Given the description of an element on the screen output the (x, y) to click on. 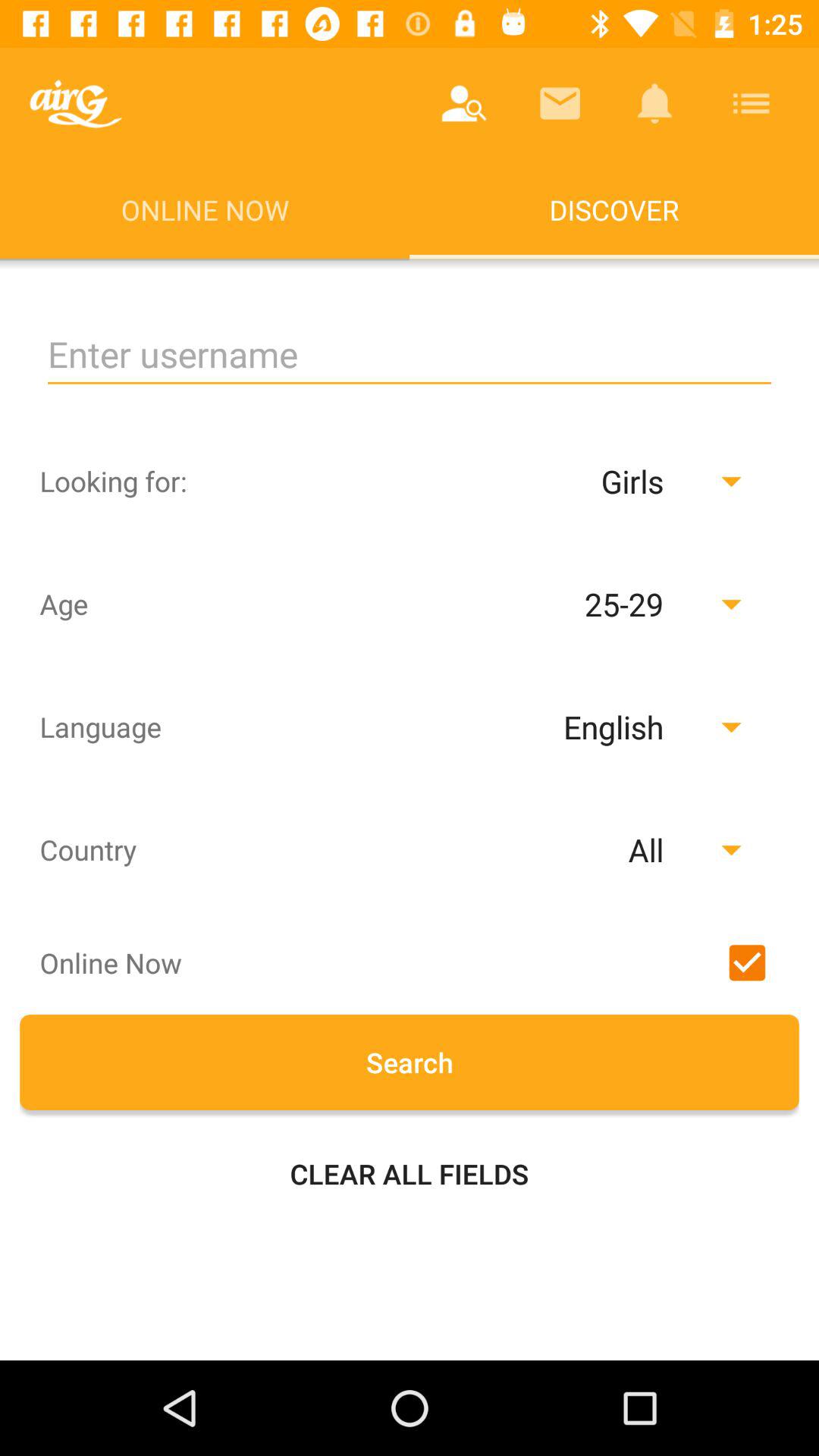
jump until the clear all fields item (409, 1173)
